Given the description of an element on the screen output the (x, y) to click on. 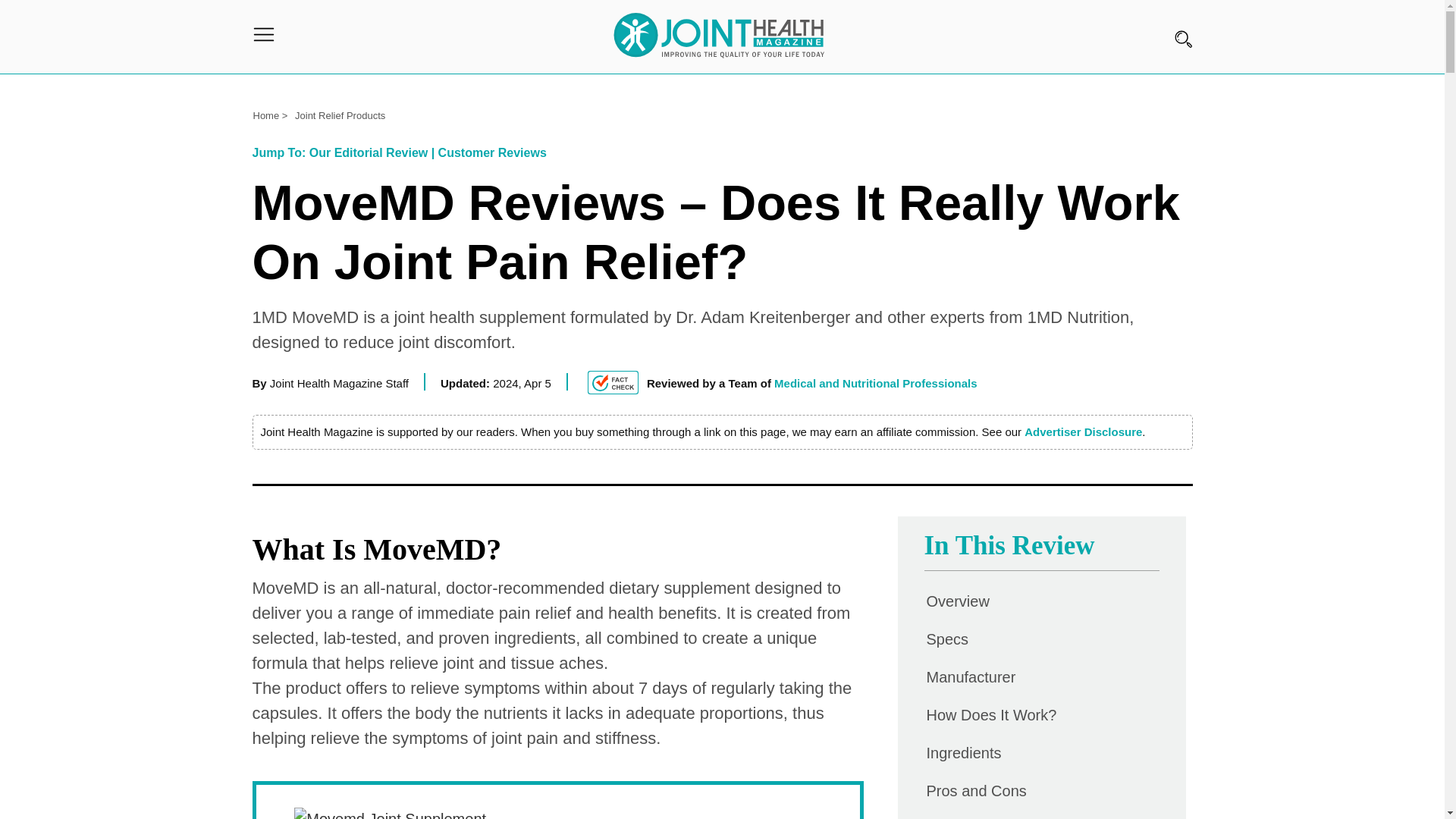
Specs (946, 639)
How Does It Work? (990, 715)
Joint Relief Products (342, 113)
Medical and Nutritional Professionals (875, 382)
Advertiser Disclosure (1083, 432)
Our Editorial Review (368, 152)
Manufacturer (970, 676)
Search (22, 27)
Customer Reviews (492, 152)
Overview (956, 601)
